Given the description of an element on the screen output the (x, y) to click on. 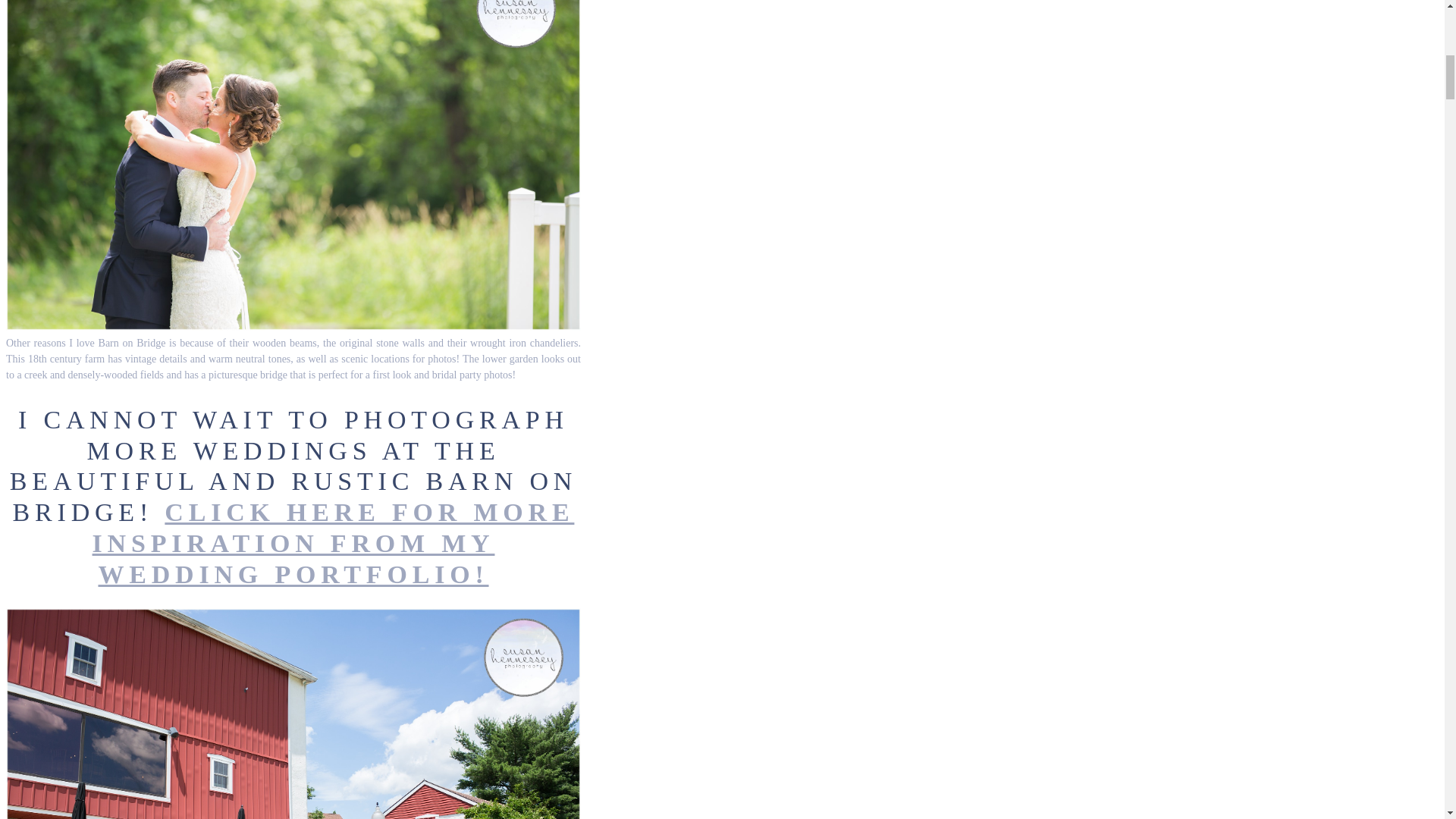
CLICK HERE FOR MORE INSPIRATION FROM MY WEDDING PORTFOLIO! (334, 542)
